Given the description of an element on the screen output the (x, y) to click on. 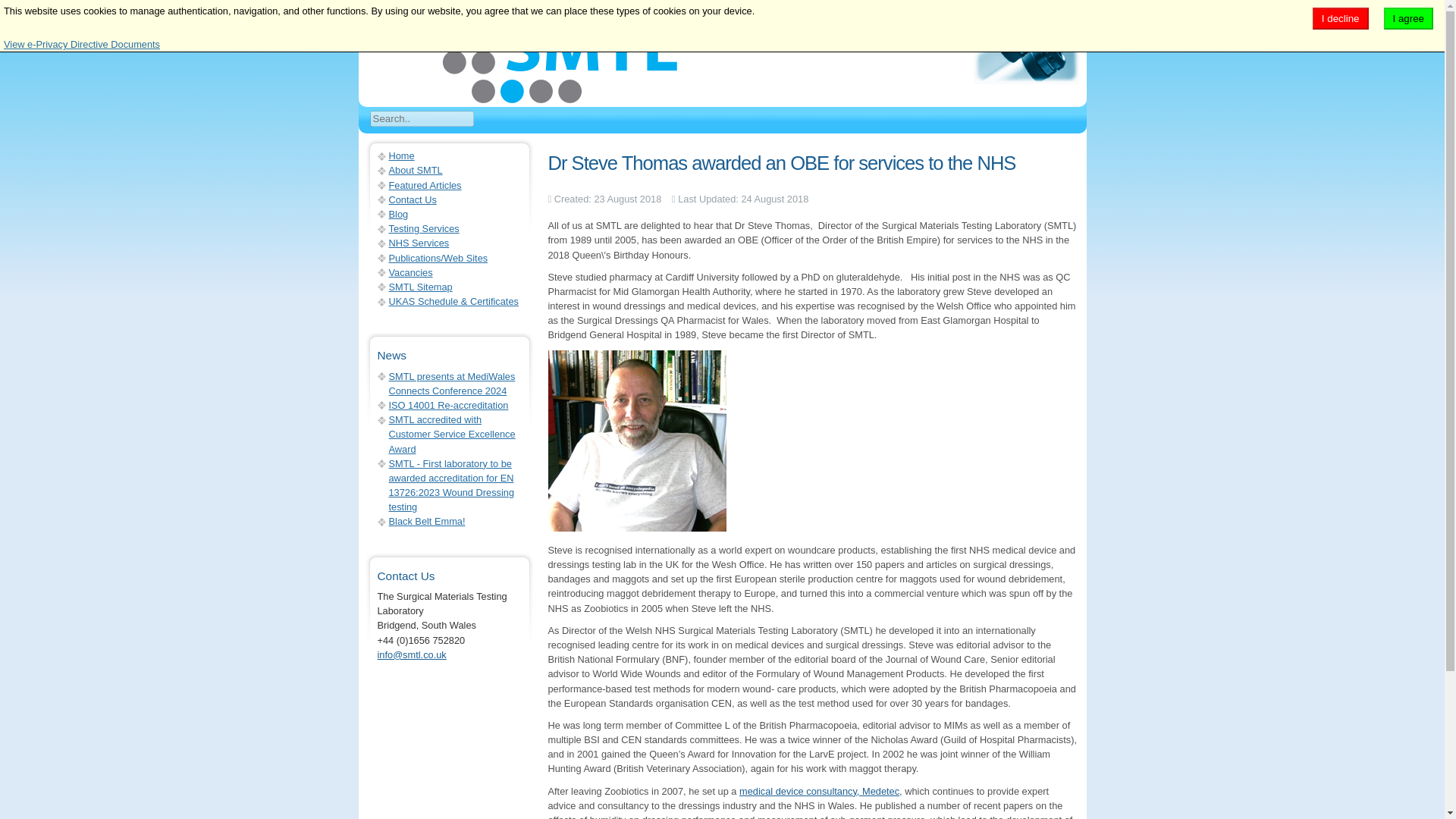
SMTL Sitemap (419, 286)
Contact Us (411, 199)
ISO 14001 Re-accreditation (448, 405)
Blog (397, 214)
I decline (1340, 18)
Vacancies (410, 272)
Home (400, 155)
Black Belt Emma! (426, 521)
medical device consultancy, Medetec (819, 790)
Testing Services (423, 228)
SMTL accredited with Customer Service Excellence Award (451, 434)
NHS Services (418, 242)
View e-Privacy Directive Documents (82, 43)
Featured Articles (424, 184)
